Given the description of an element on the screen output the (x, y) to click on. 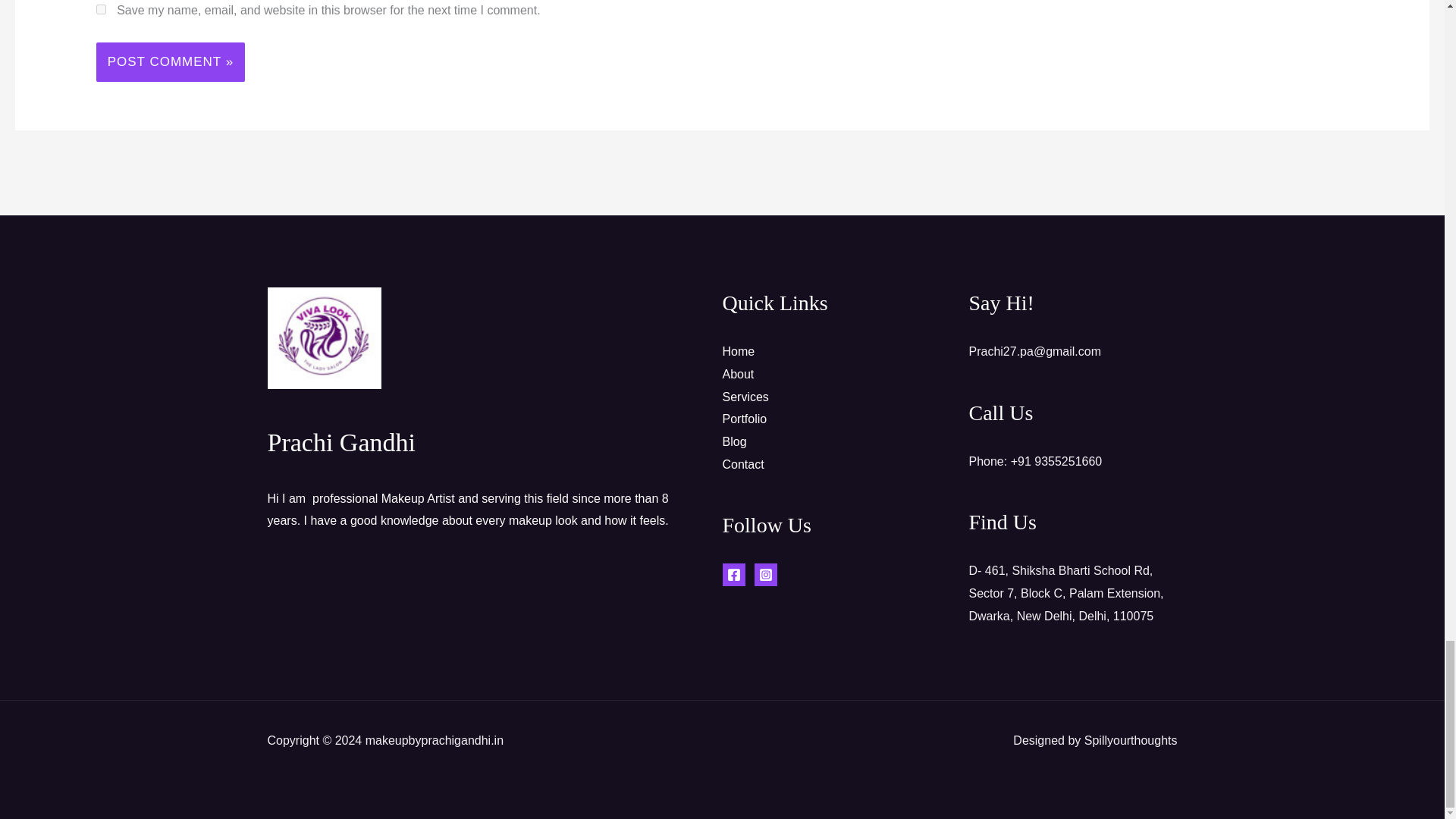
Contact (742, 463)
Services (745, 396)
About (738, 373)
yes (101, 9)
Home (738, 350)
Portfolio (744, 418)
Blog (733, 440)
